Given the description of an element on the screen output the (x, y) to click on. 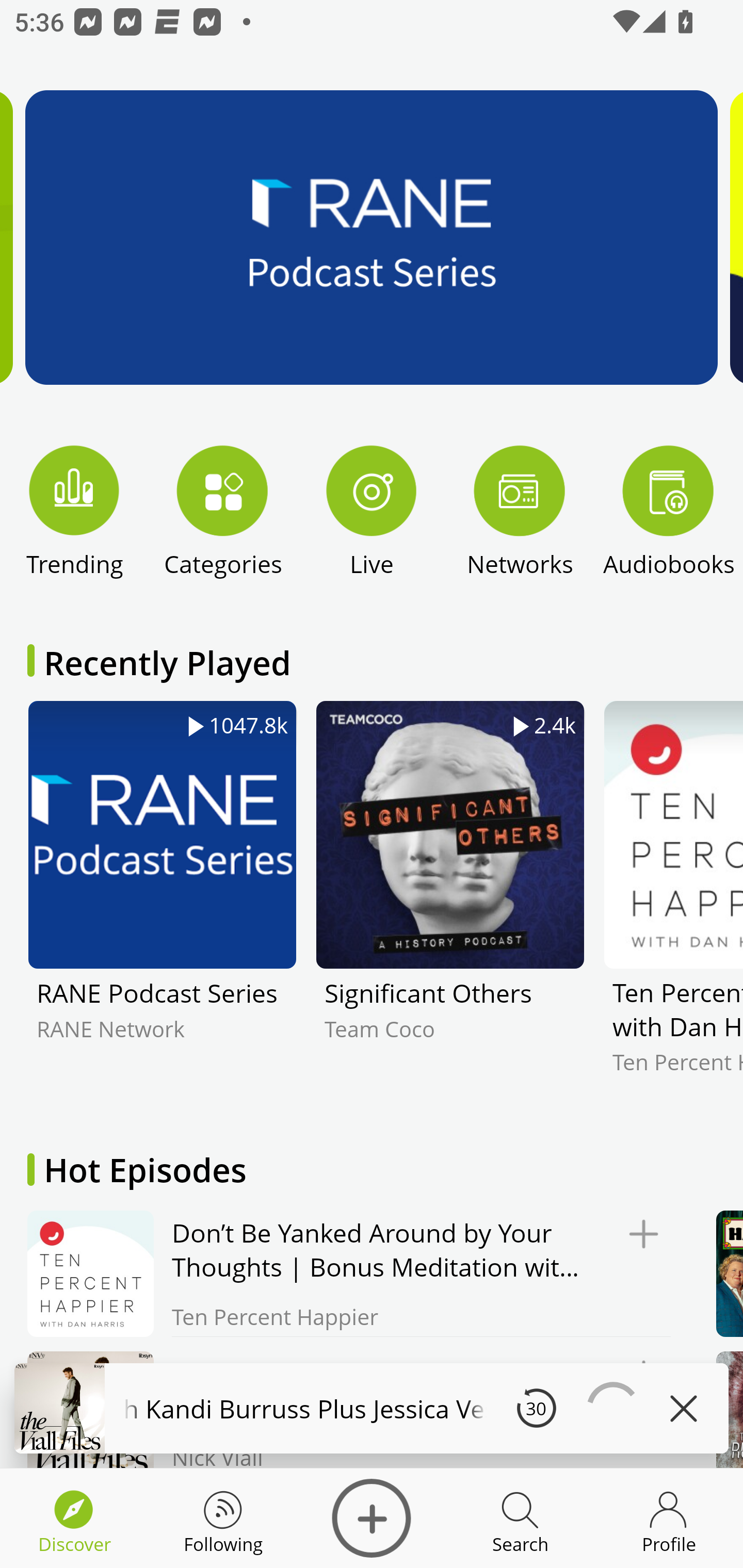
1047.8k RANE Podcast Series RANE Network (162, 902)
2.4k Significant Others Team Coco (450, 902)
30 Seek Backward (536, 1407)
Discover Following (222, 1518)
Discover (371, 1518)
Discover Search (519, 1518)
Discover Profile (668, 1518)
